Given the description of an element on the screen output the (x, y) to click on. 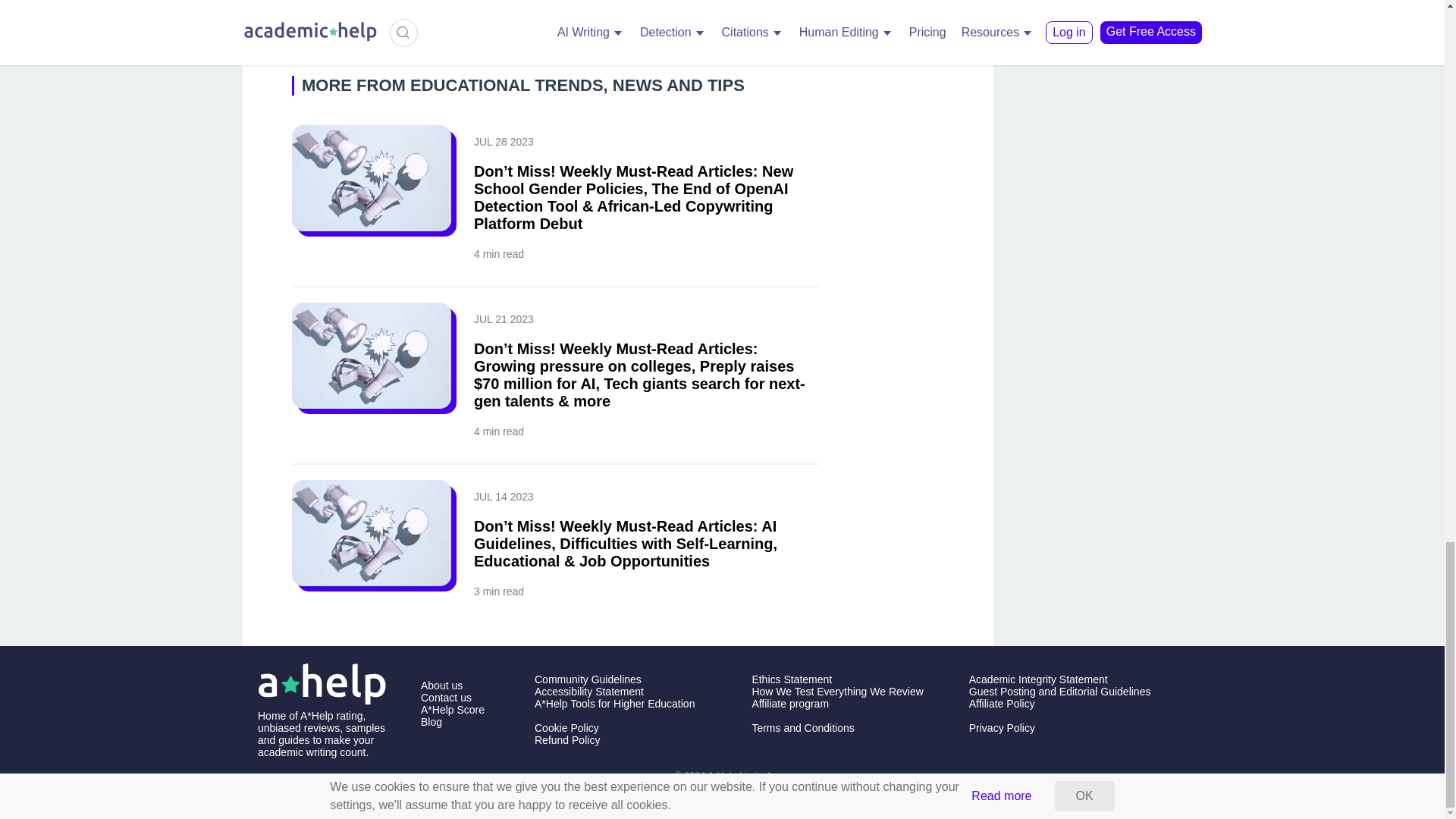
Post Comment (378, 24)
